Given the description of an element on the screen output the (x, y) to click on. 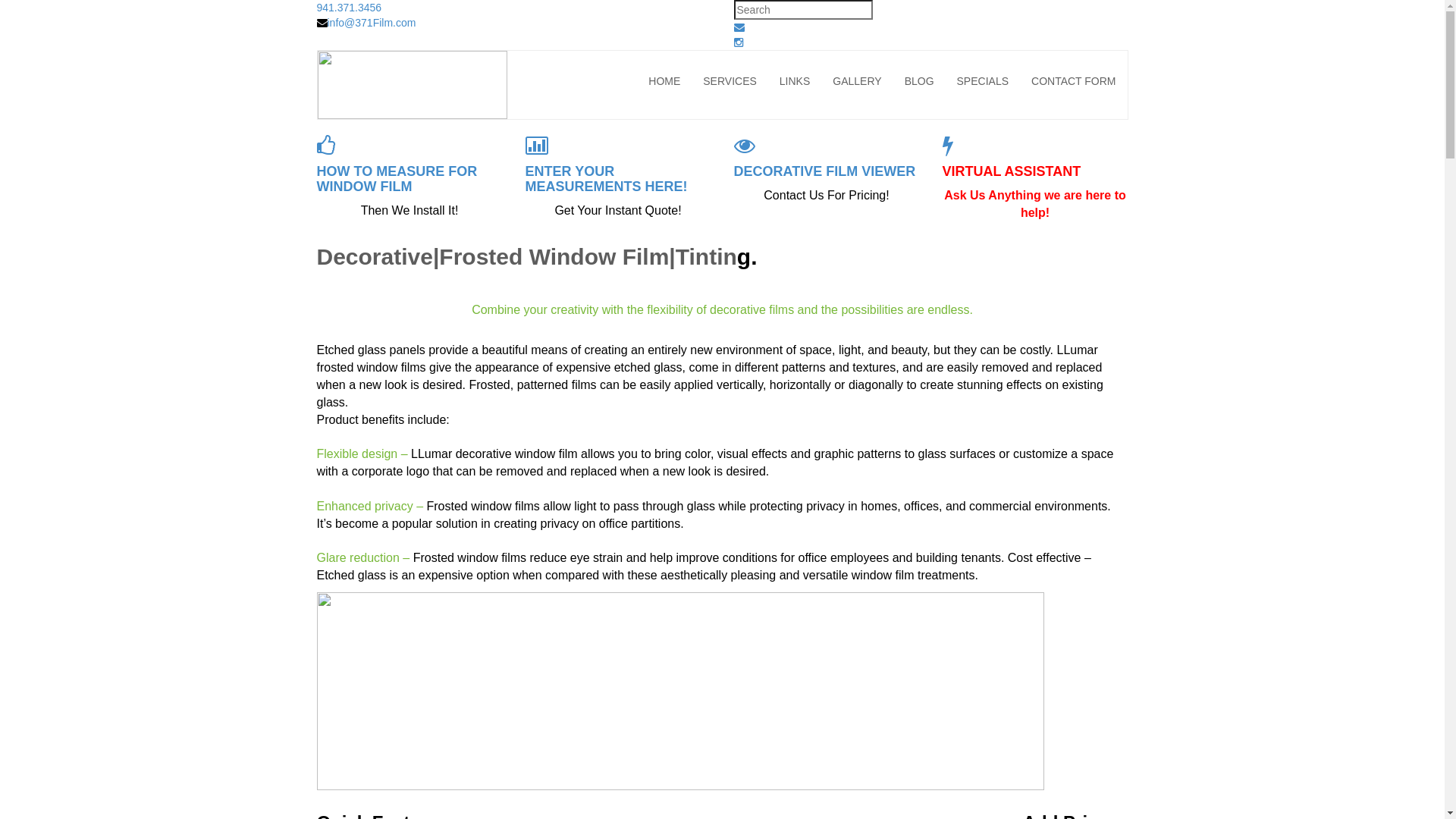
GALLERY Element type: text (856, 80)
info@371Film.com Element type: text (371, 22)
VIRTUAL ASSISTANT
Ask Us Anything we are here to help! Element type: text (1034, 177)
HOW TO MEASURE FOR WINDOW FILM
Then We Install It! Element type: text (409, 176)
SPECIALS Element type: text (982, 80)
SERVICES Element type: text (729, 80)
DECORATIVE FILM VIEWER
Contact Us For Pricing! Element type: text (826, 169)
BLOG Element type: text (919, 80)
CONTACT FORM Element type: text (1072, 80)
HOME Element type: text (664, 80)
941.371.3456 Element type: text (349, 7)
ENTER YOUR MEASUREMENTS HERE!
Get Your Instant Quote! Element type: text (617, 176)
LINKS Element type: text (794, 80)
